Given the description of an element on the screen output the (x, y) to click on. 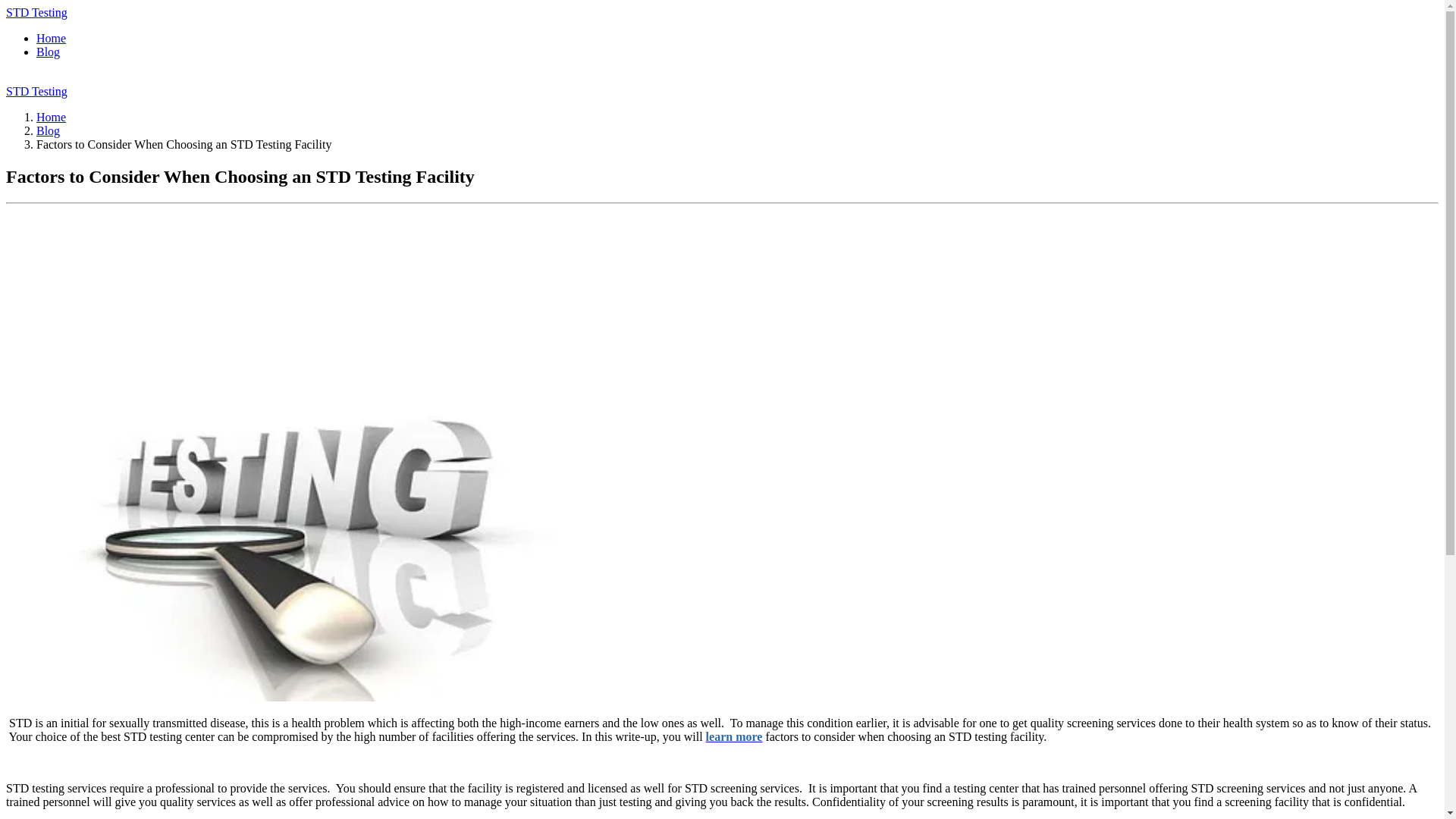
STD Testing (35, 91)
STD Testing (35, 11)
Blog (47, 130)
Home (50, 38)
Blog (47, 51)
learn more (734, 736)
Home (50, 116)
